Given the description of an element on the screen output the (x, y) to click on. 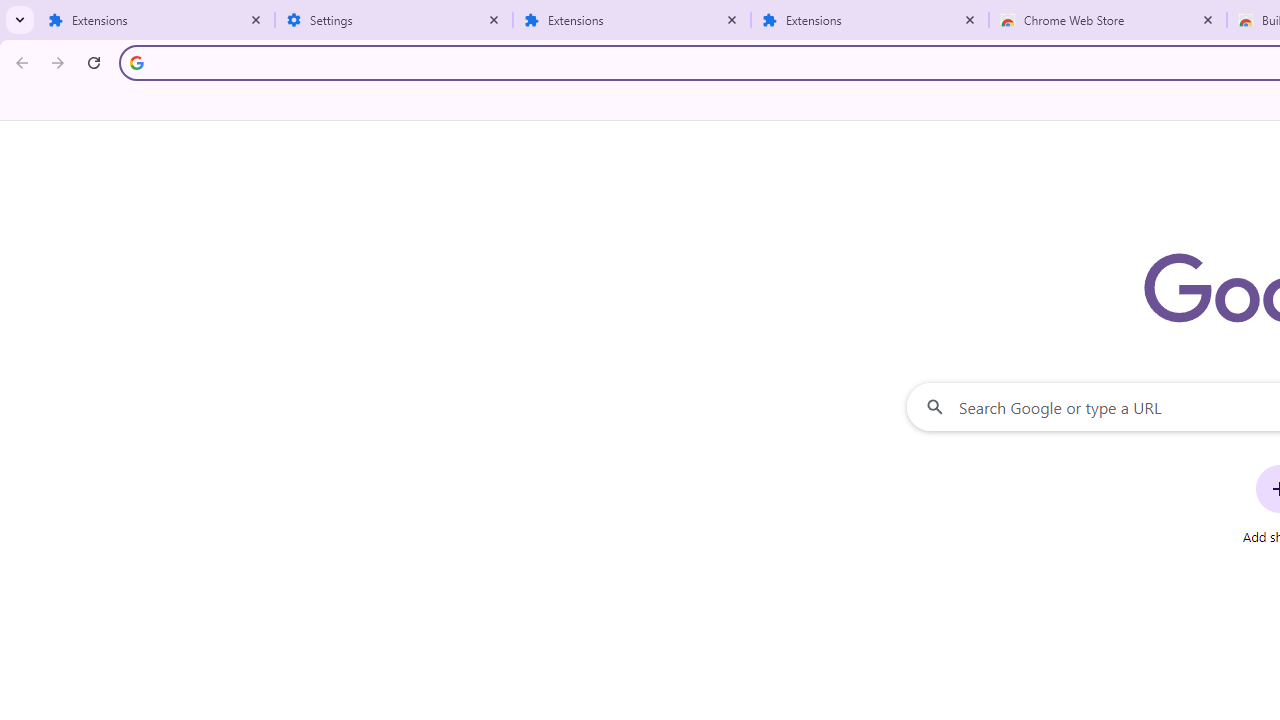
Chrome Web Store (1108, 20)
Settings (394, 20)
Extensions (870, 20)
Extensions (156, 20)
Extensions (632, 20)
